Given the description of an element on the screen output the (x, y) to click on. 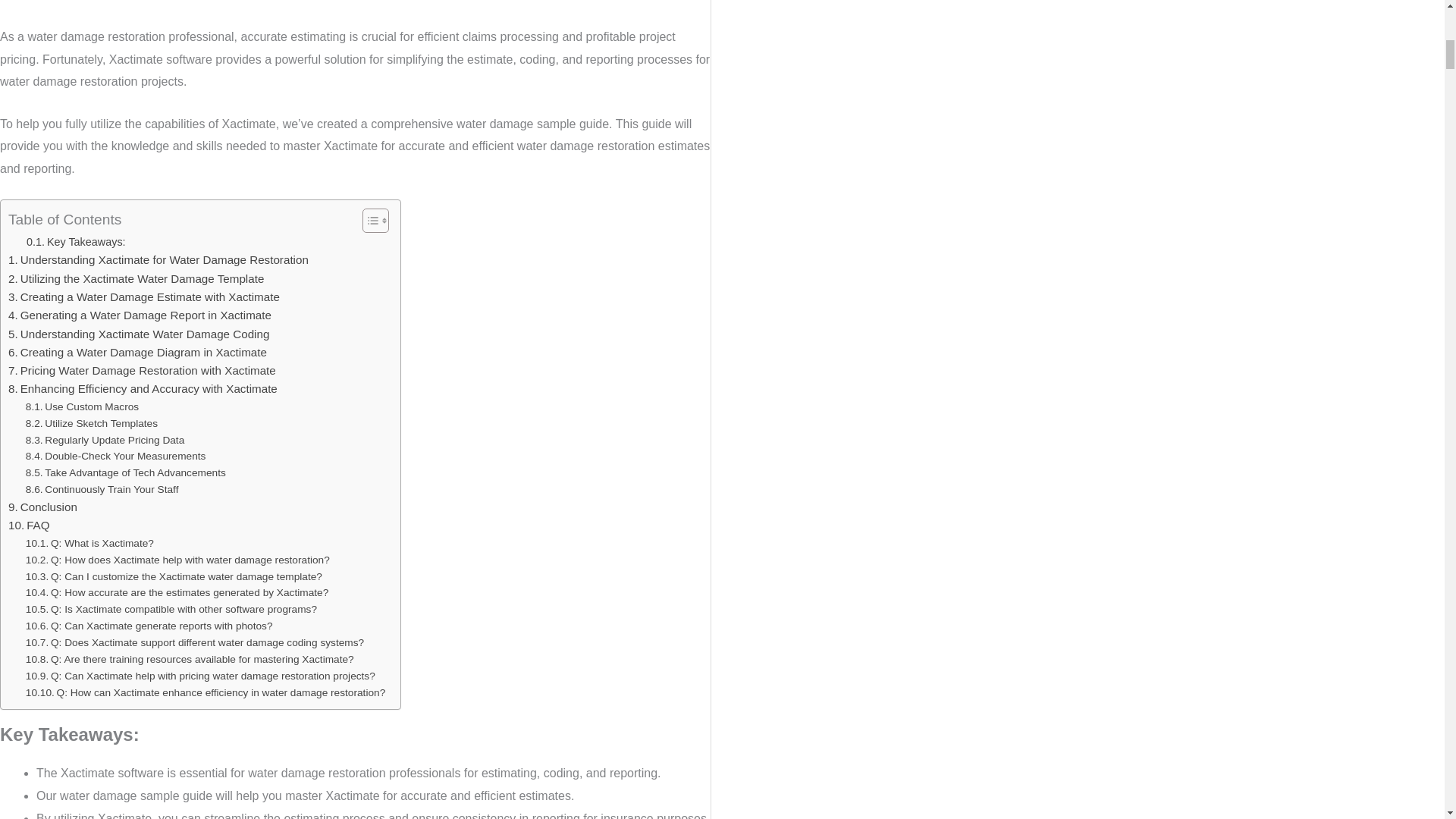
Double-Check Your Measurements (116, 456)
Pricing Water Damage Restoration with Xactimate (142, 370)
Use Custom Macros (82, 406)
Understanding Xactimate Water Damage Coding (138, 333)
Key Takeaways: (75, 241)
Use Custom Macros (82, 406)
Enhancing Efficiency and Accuracy with Xactimate (143, 389)
Utilize Sketch Templates (91, 423)
Utilizing the Xactimate Water Damage Template (135, 279)
Creating a Water Damage Diagram in Xactimate (137, 352)
Understanding Xactimate Water Damage Coding (138, 333)
Utilizing the Xactimate Water Damage Template (135, 279)
Regularly Update Pricing Data (105, 440)
Enhancing Efficiency and Accuracy with Xactimate (143, 389)
Creating a Water Damage Estimate with Xactimate (143, 297)
